Given the description of an element on the screen output the (x, y) to click on. 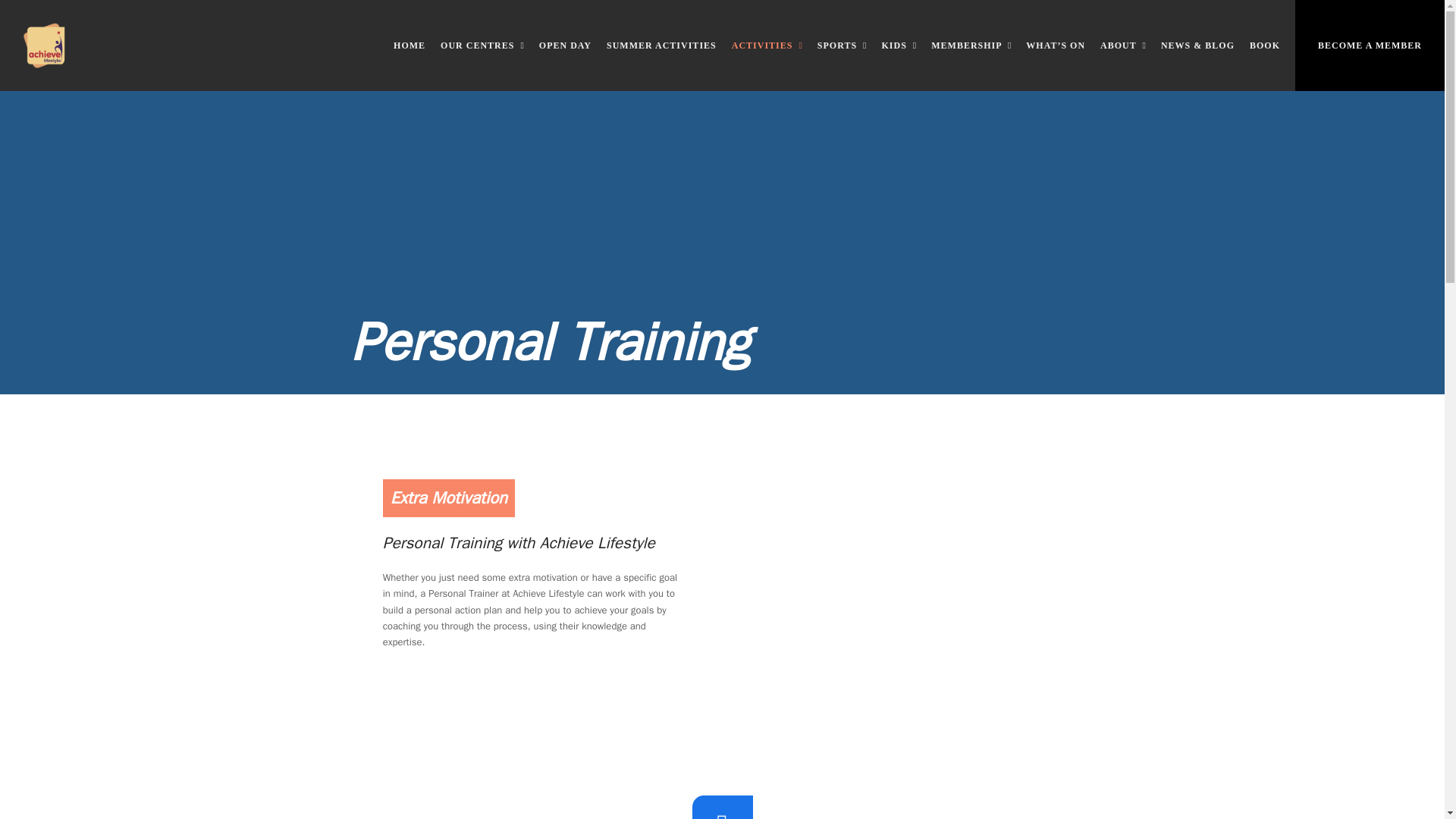
SUMMER ACTIVITIES (661, 45)
OUR CENTRES (482, 45)
